Given the description of an element on the screen output the (x, y) to click on. 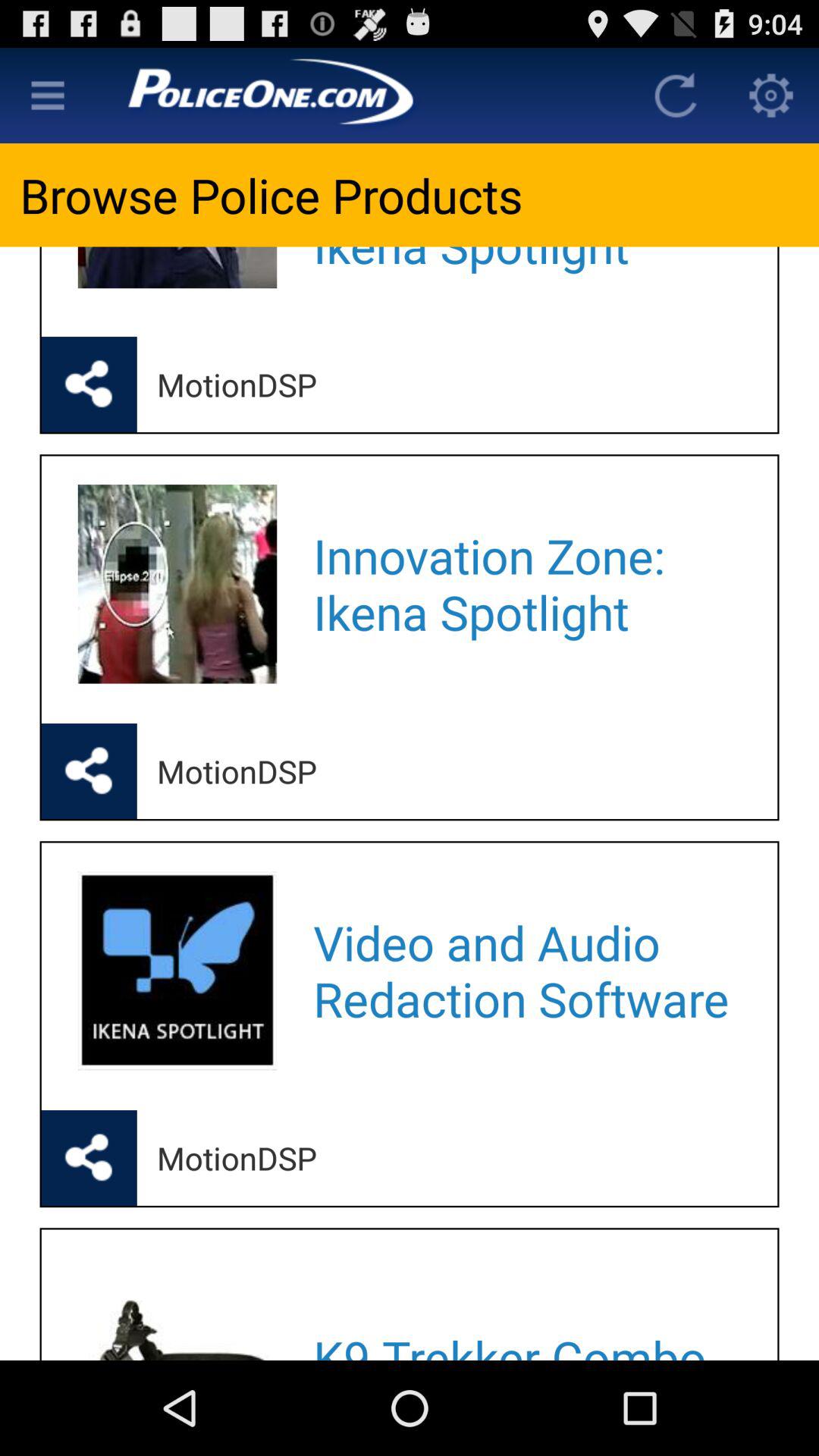
select app above motiondsp item (525, 583)
